Given the description of an element on the screen output the (x, y) to click on. 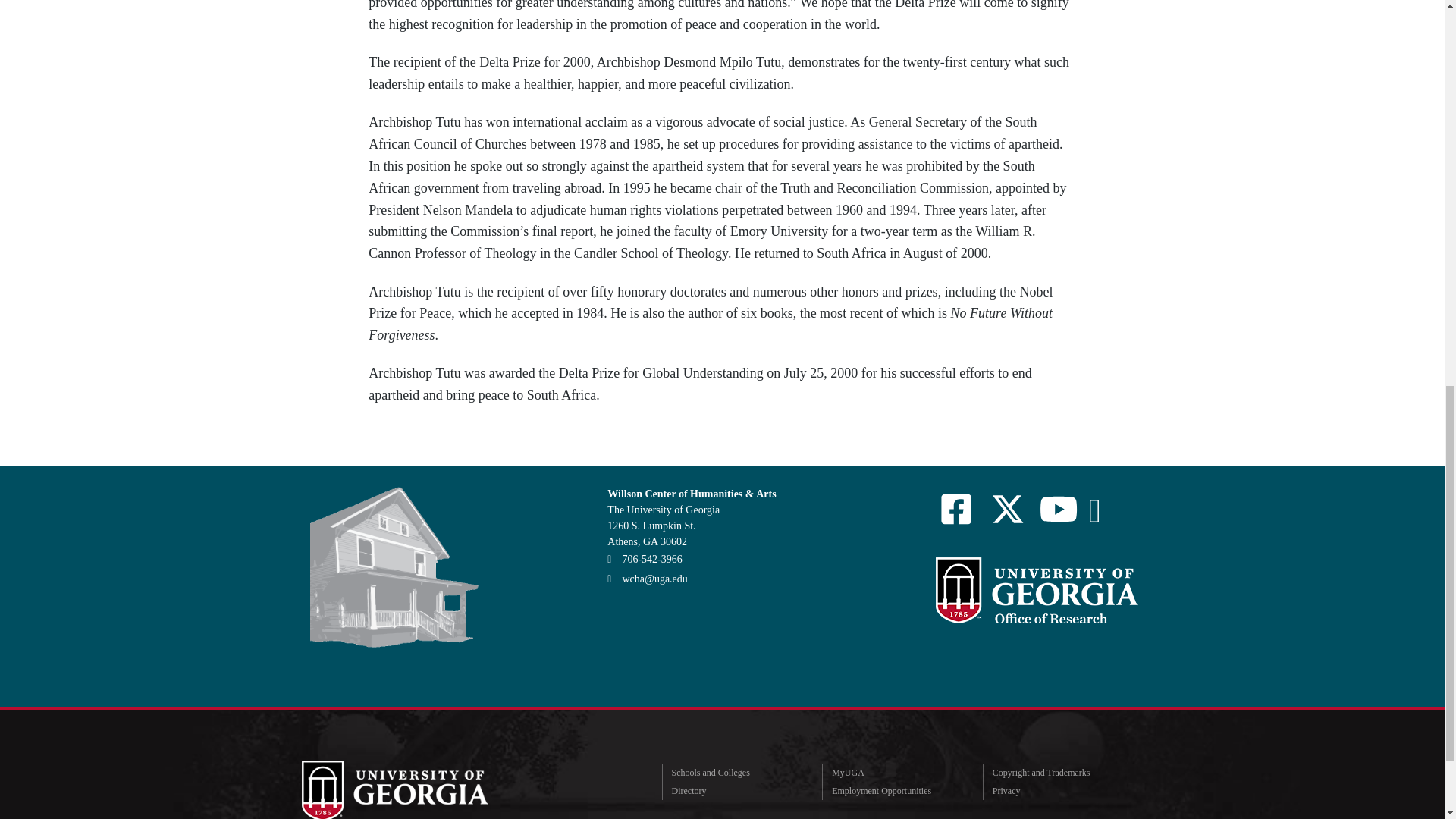
Office of the Vice President for Research (1036, 590)
